Given the description of an element on the screen output the (x, y) to click on. 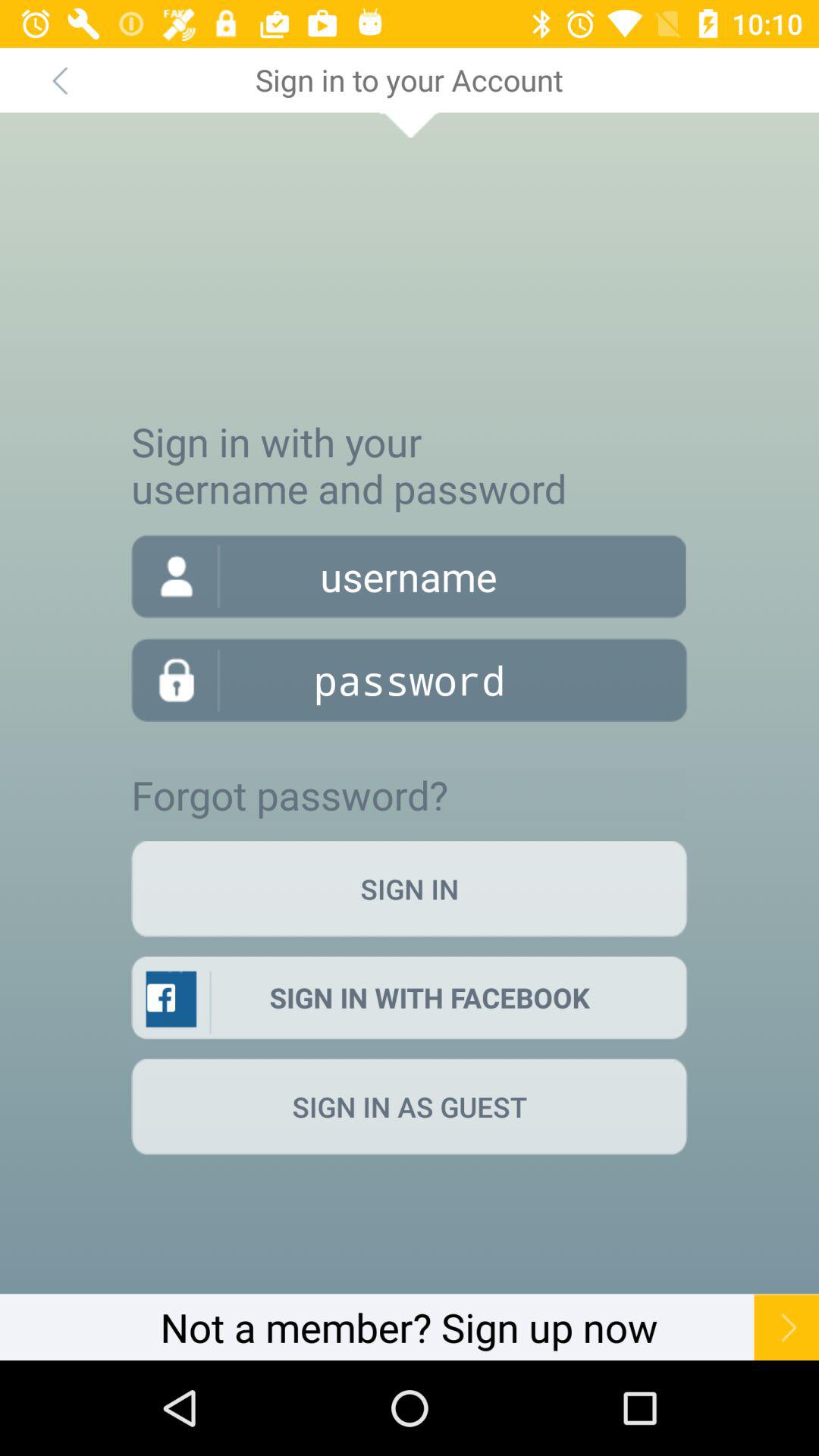
click the icon at the top left corner (59, 79)
